Given the description of an element on the screen output the (x, y) to click on. 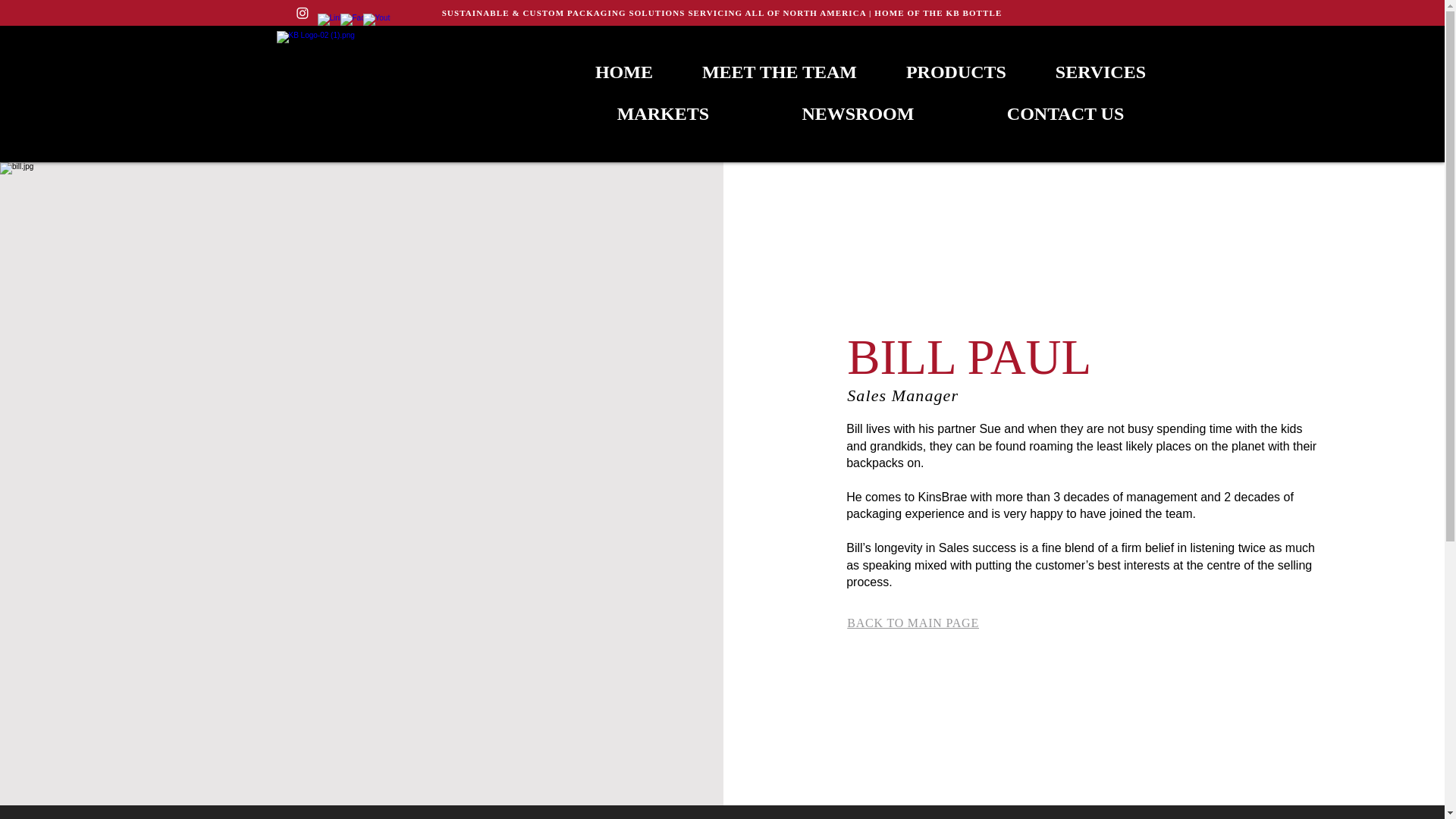
PRODUCTS (955, 72)
BACK TO MAIN PAGE (912, 622)
MEET THE TEAM (778, 72)
MARKETS (662, 113)
NEWSROOM (857, 113)
CONTACT US (1065, 113)
HOME (623, 72)
SERVICES (1100, 72)
